Given the description of an element on the screen output the (x, y) to click on. 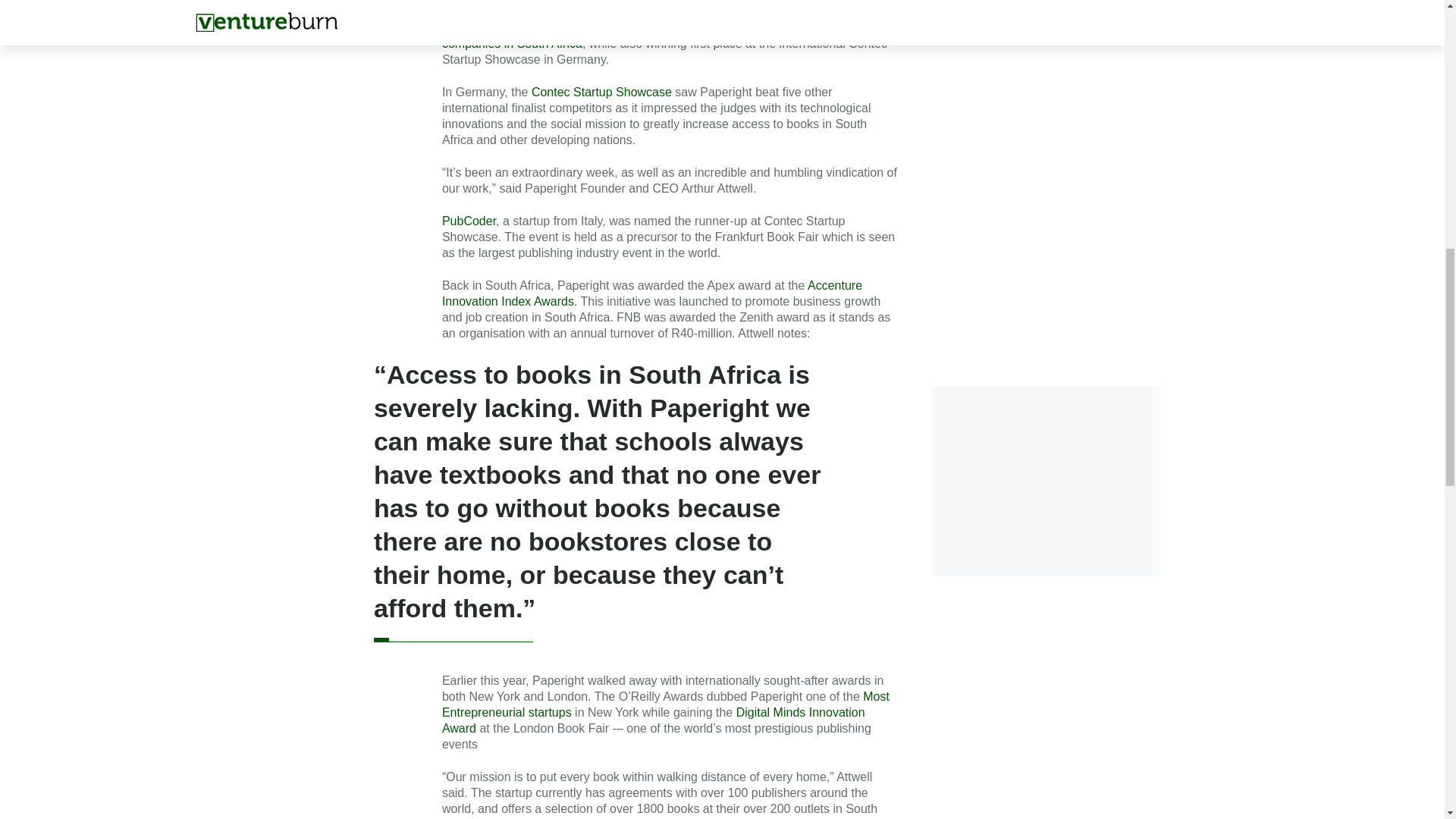
most innovative companies in South Africa (659, 35)
Accenture Innovation Index Awards (651, 293)
Contec Startup Showcase (601, 91)
PubCoder (469, 220)
Most Entrepreneurial startups (665, 704)
Digital Minds Innovation Award (653, 719)
